Given the description of an element on the screen output the (x, y) to click on. 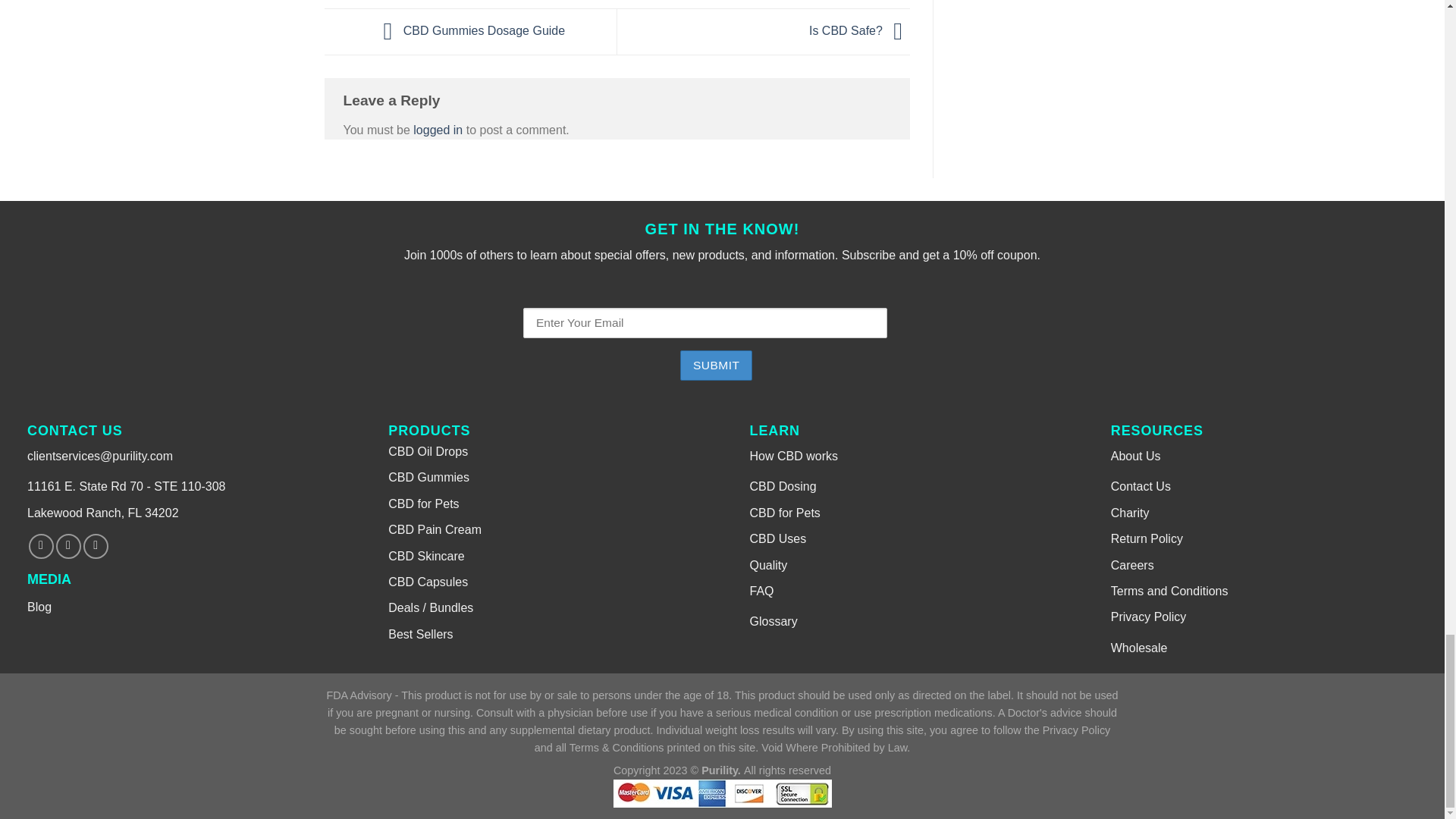
Submit (715, 365)
CBD Gummies Dosage Guide (470, 30)
Follow on Facebook (41, 545)
Follow on Pinterest (94, 545)
Submit (715, 365)
logged in (438, 129)
Is CBD Safe? (859, 30)
Follow on Instagram (68, 545)
